Given the description of an element on the screen output the (x, y) to click on. 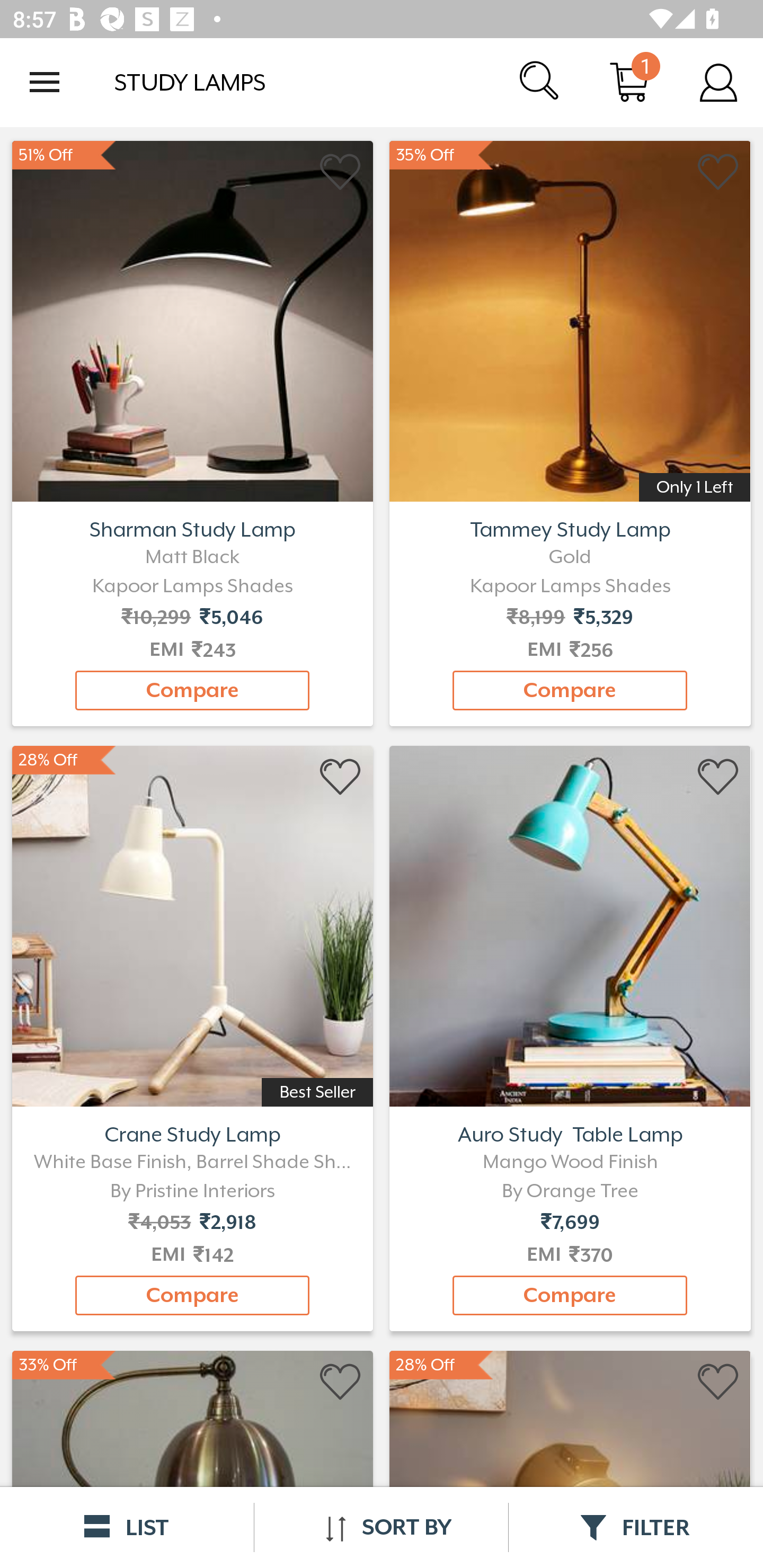
Open navigation drawer (44, 82)
Search (540, 81)
Cart (629, 81)
Account Details (718, 81)
 (341, 172)
 (718, 172)
Compare (192, 690)
Compare (569, 690)
 (341, 777)
 (718, 777)
Compare (192, 1295)
Compare (569, 1295)
 (341, 1382)
 (718, 1382)
 LIST (127, 1527)
SORT BY (381, 1527)
 FILTER (635, 1527)
